Given the description of an element on the screen output the (x, y) to click on. 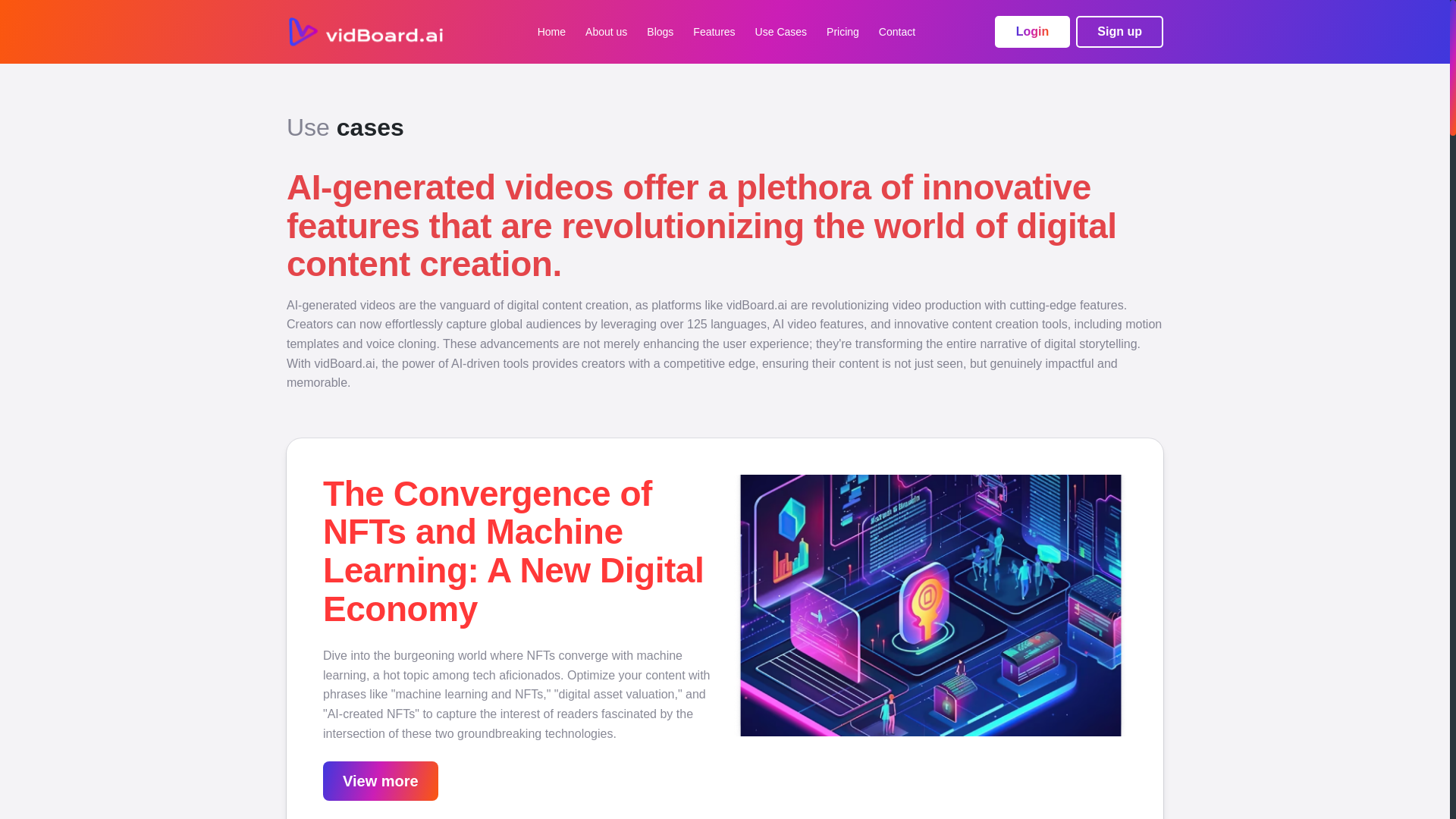
View more (380, 780)
Pricing (843, 32)
Blogs (659, 32)
Features (714, 32)
Home (551, 32)
Use Cases (780, 32)
View more (380, 781)
Sign up (1119, 31)
About us (606, 32)
Login (1032, 31)
Contact (897, 32)
